Given the description of an element on the screen output the (x, y) to click on. 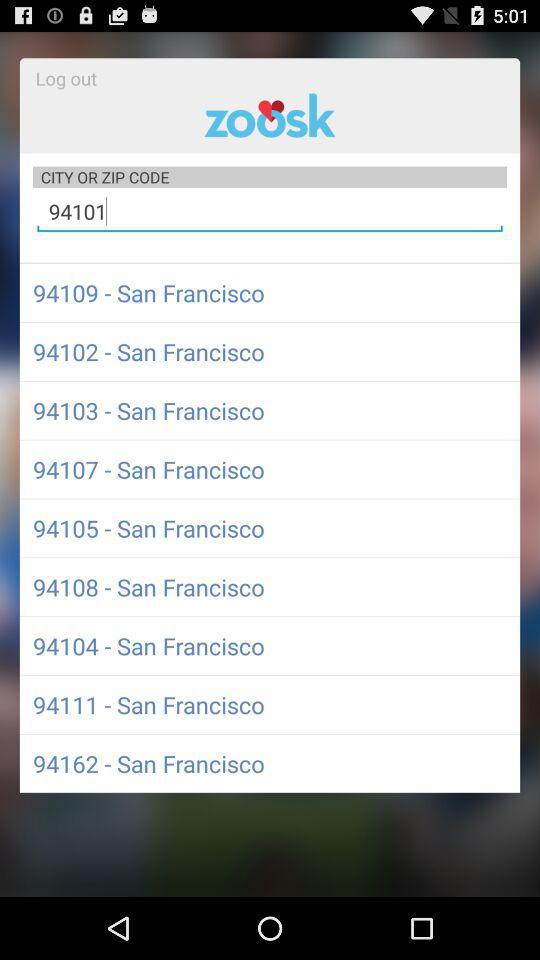
click on the search bar with the text 94101 (269, 212)
